Given the description of an element on the screen output the (x, y) to click on. 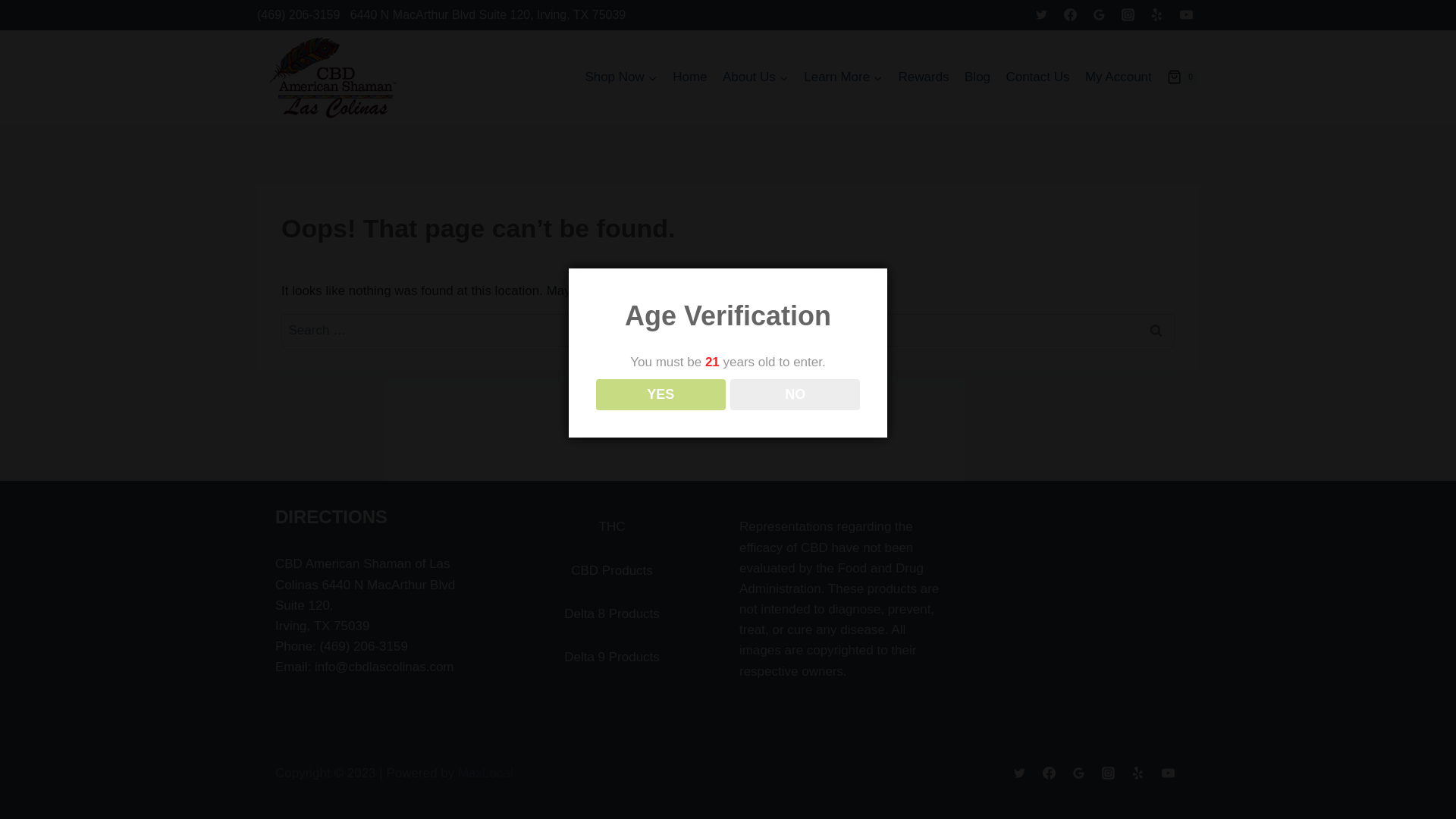
Shop Now (620, 76)
6440 N MacArthur Blvd Suite 120, Irving, TX 75039 (488, 14)
About Us (755, 76)
Search (1155, 329)
Search (1155, 329)
Home (689, 76)
